Given the description of an element on the screen output the (x, y) to click on. 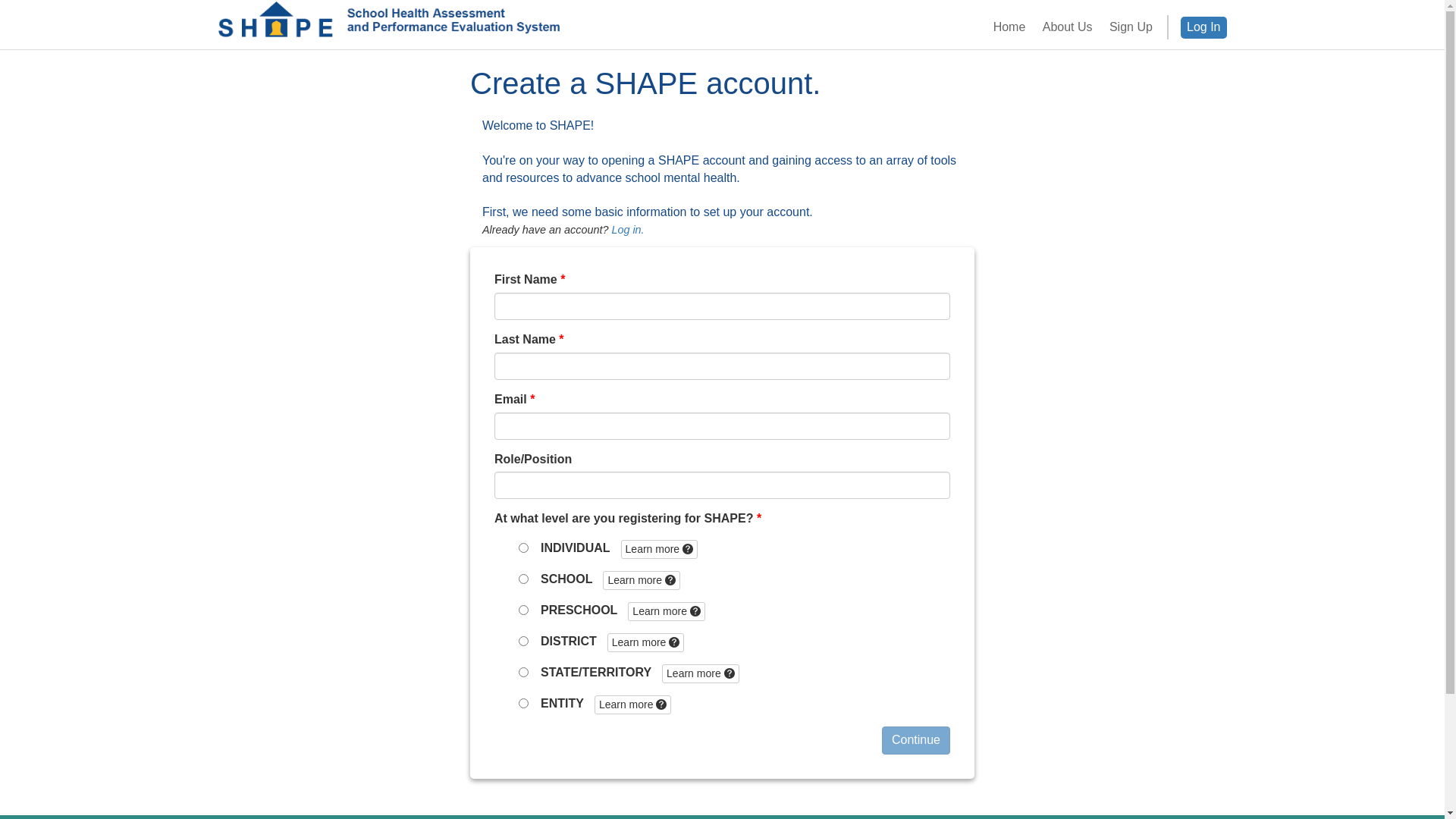
Learn more Element type: text (659, 548)
Log In Element type: text (1203, 27)
Learn more Element type: text (665, 611)
Sign Up Element type: text (1131, 27)
Learn more Element type: text (700, 673)
Continue Element type: text (915, 740)
About Us Element type: text (1067, 27)
Learn more Element type: text (645, 642)
Learn more Element type: text (640, 580)
Log in. Element type: text (627, 229)
Learn more Element type: text (632, 704)
Home Element type: text (1008, 27)
